Given the description of an element on the screen output the (x, y) to click on. 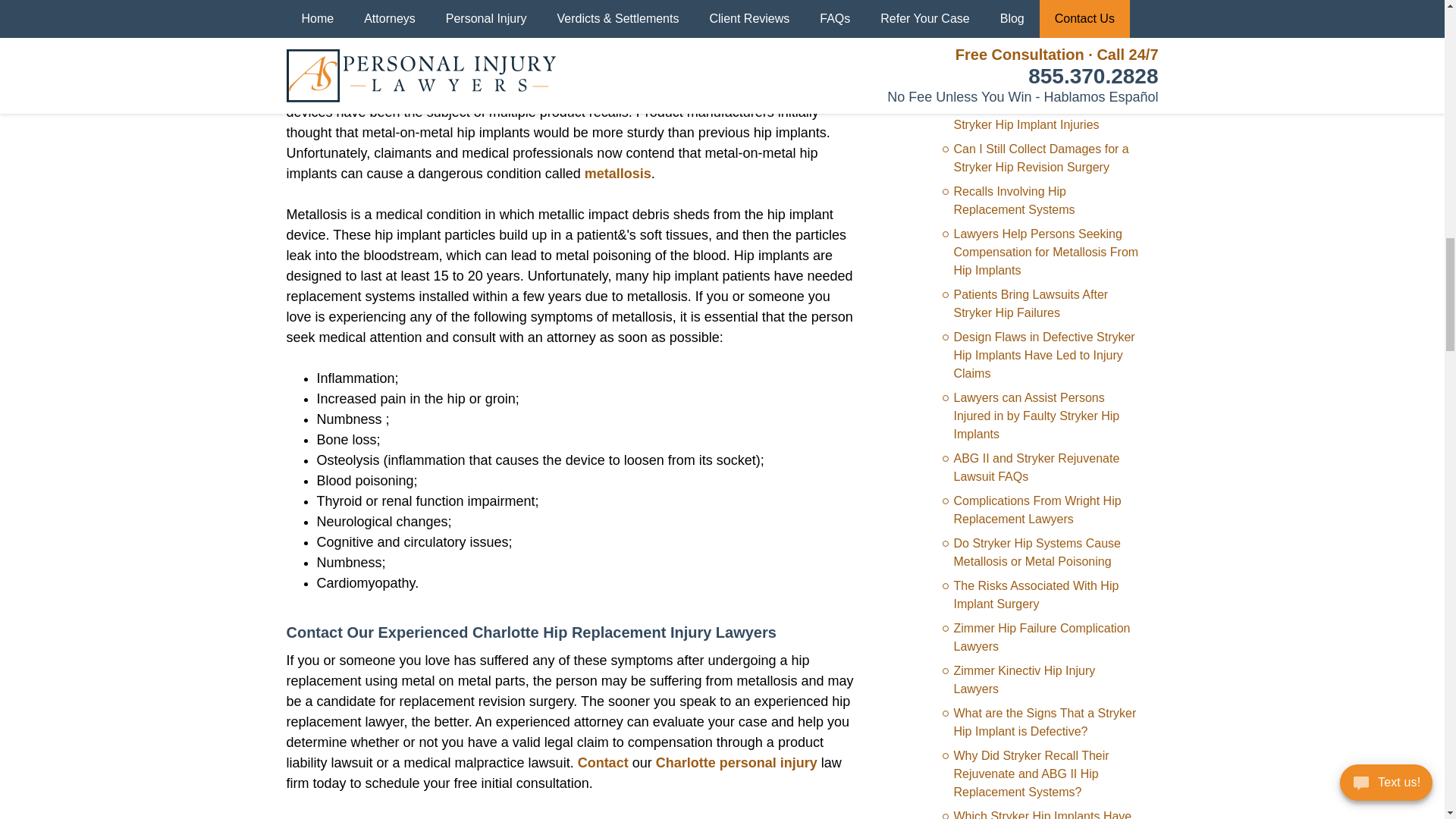
metallosis (617, 173)
Charlotte personal injury (736, 762)
Contact (603, 762)
